Given the description of an element on the screen output the (x, y) to click on. 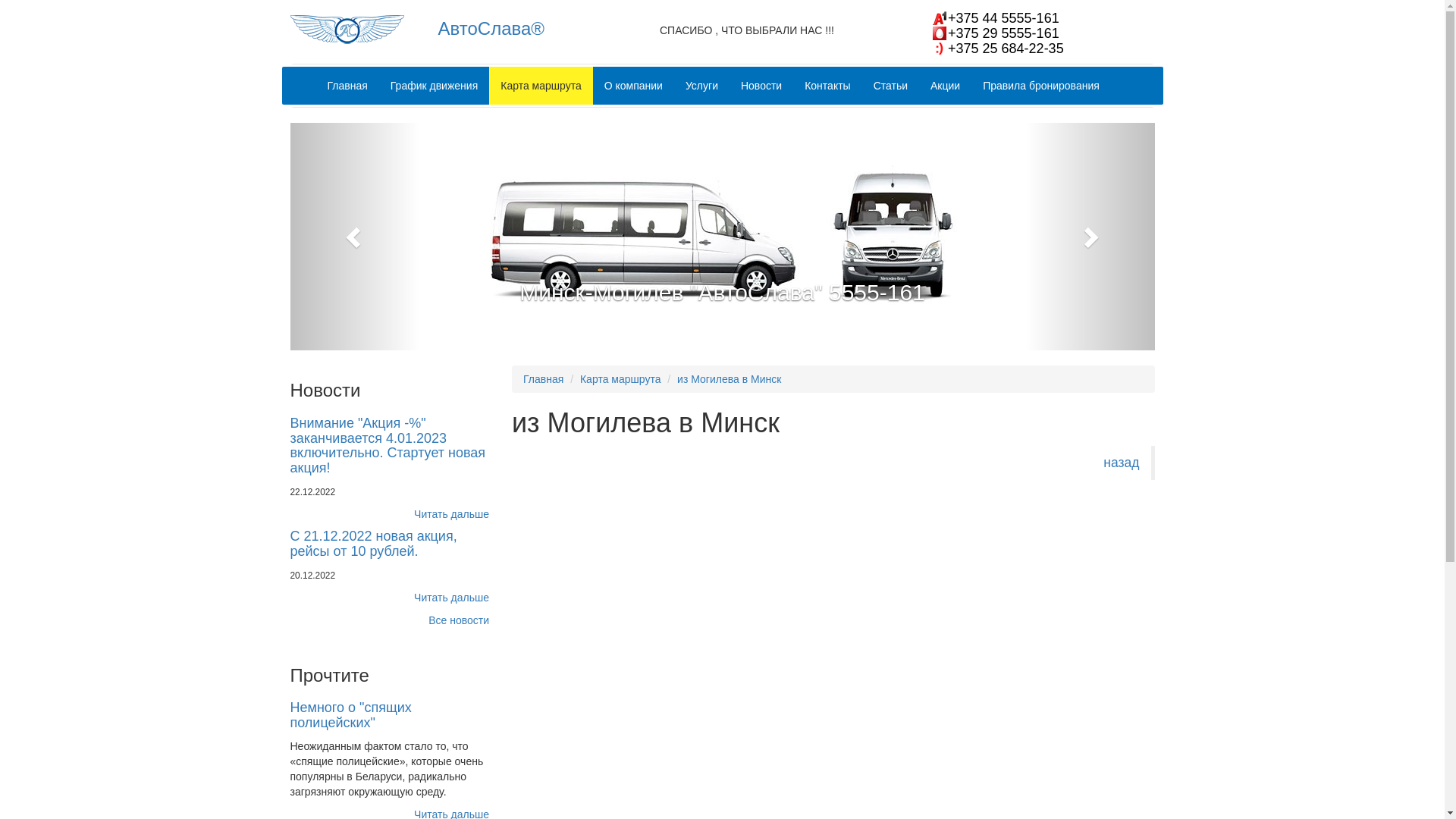
+375 25 684-22-35 Element type: text (997, 48)
+375 44 5555-161 Element type: text (995, 17)
Next Element type: text (1089, 236)
Previous Element type: text (354, 236)
+375 29 5555-161 Element type: text (995, 32)
